Given the description of an element on the screen output the (x, y) to click on. 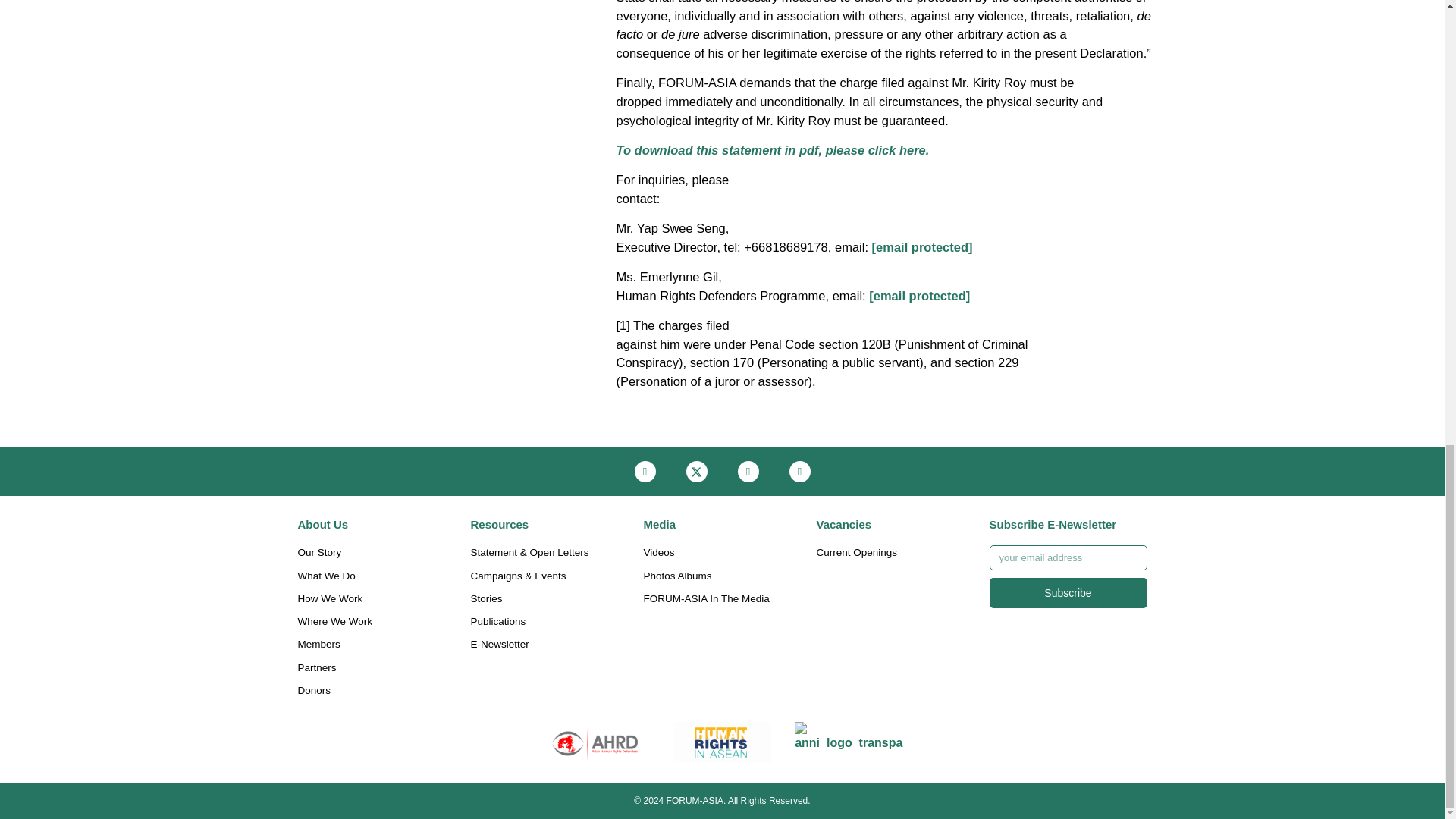
Default Title (722, 741)
Default Title (848, 741)
Default Title (595, 741)
